Given the description of an element on the screen output the (x, y) to click on. 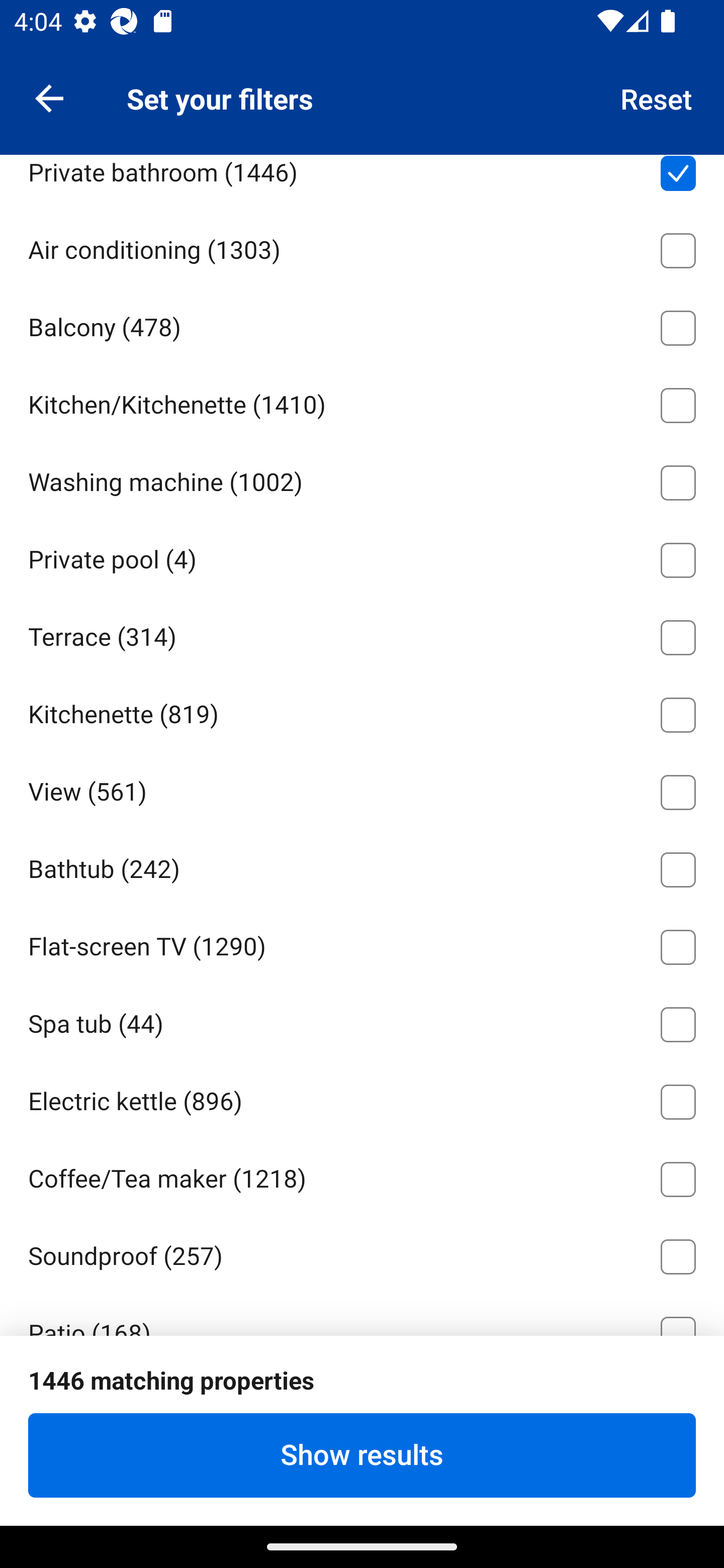
Navigate up (49, 97)
Reset (656, 97)
Private bathroom ⁦(1446) (361, 181)
Air conditioning ⁦(1303) (361, 246)
Balcony ⁦(478) (361, 324)
Kitchen/Kitchenette ⁦(1410) (361, 401)
Washing machine ⁦(1002) (361, 478)
Private pool ⁦(4) (361, 556)
Terrace ⁦(314) (361, 633)
Kitchenette ⁦(819) (361, 711)
View ⁦(561) (361, 789)
Bathtub ⁦(242) (361, 865)
Flat-screen TV ⁦(1290) (361, 943)
Spa tub ⁦(44) (361, 1021)
Electric kettle ⁦(896) (361, 1097)
Coffee/Tea maker ⁦(1218) (361, 1175)
Soundproof ⁦(257) (361, 1253)
Show results (361, 1454)
